Given the description of an element on the screen output the (x, y) to click on. 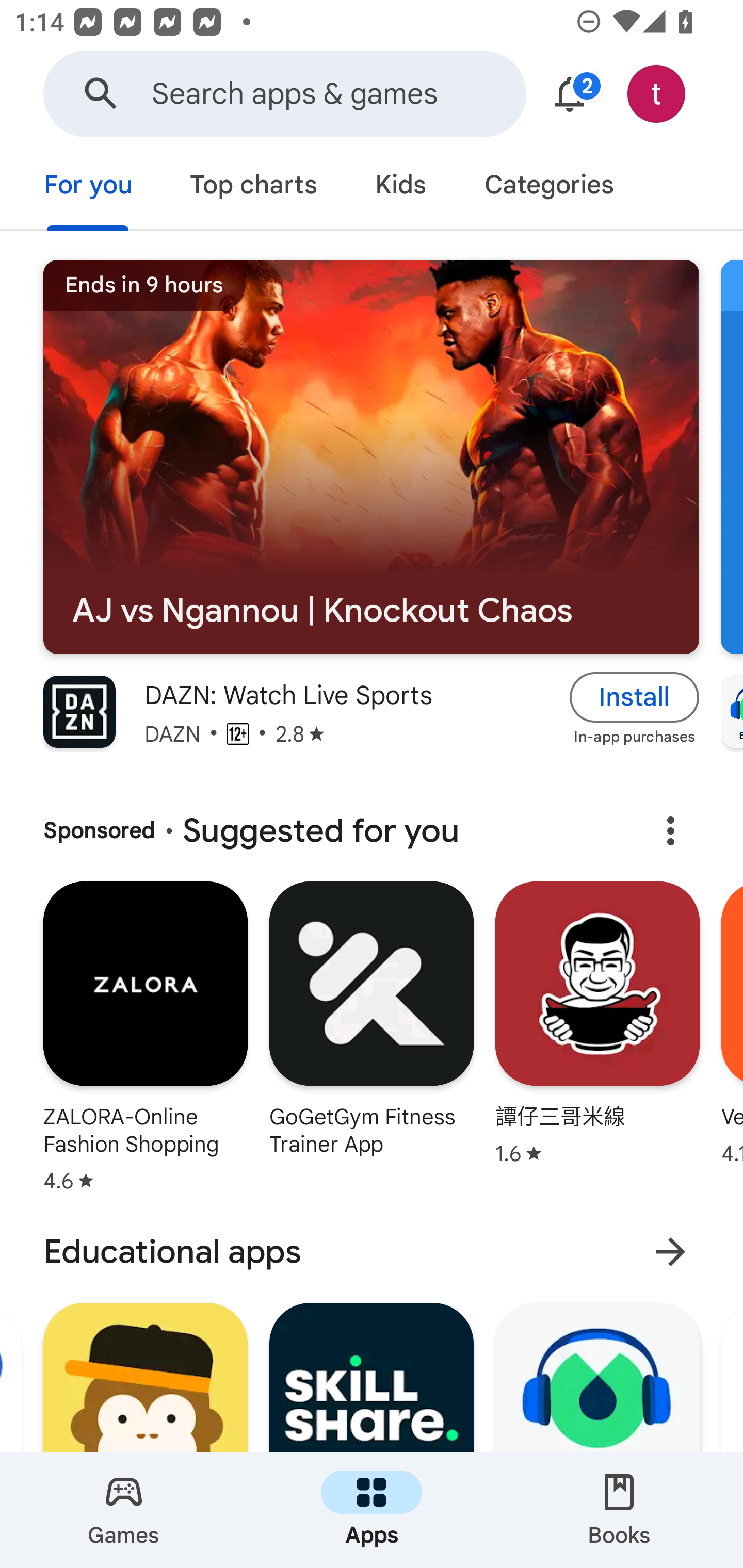
Search Google Play Search apps & games (284, 93)
Search Google Play (100, 93)
Top charts (253, 187)
Kids (400, 187)
Categories (548, 187)
AJ vs Ngannou | Knockout Chaos Ends in 9 hours (371, 456)
Install (634, 696)
About this ad (670, 830)
ZALORA-Online Fashion Shopping
Star rating: 4.6
 (145, 1041)
GoGetGym Fitness Trainer App
 (371, 1041)
譚仔三哥米線
Star rating: 1.6
 (597, 1041)
Educational apps More results for Educational apps (371, 1252)
More results for Educational apps (670, 1251)
Games (123, 1509)
Books (619, 1509)
